Given the description of an element on the screen output the (x, y) to click on. 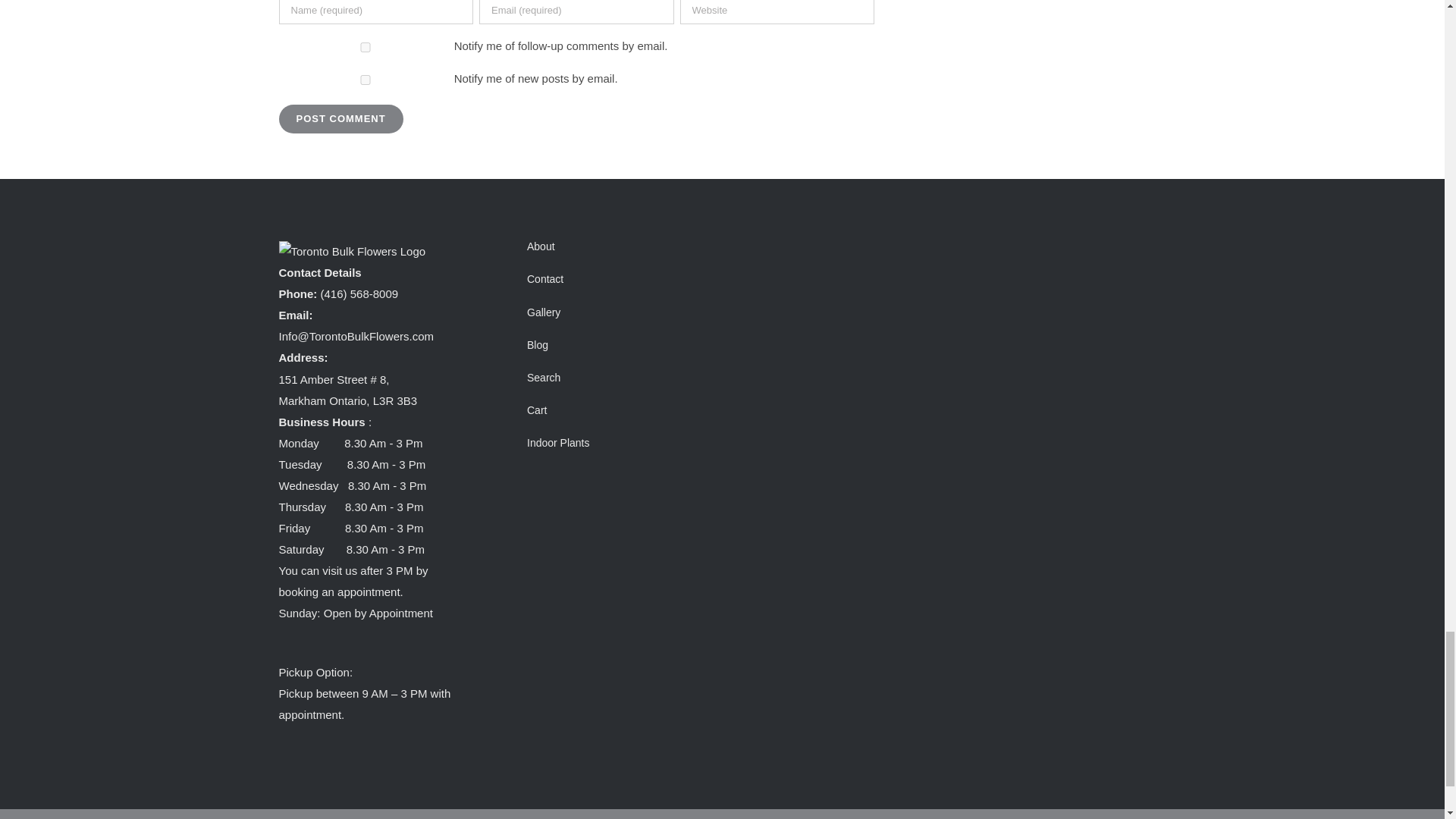
subscribe (365, 80)
Post Comment (341, 118)
subscribe (365, 47)
